Given the description of an element on the screen output the (x, y) to click on. 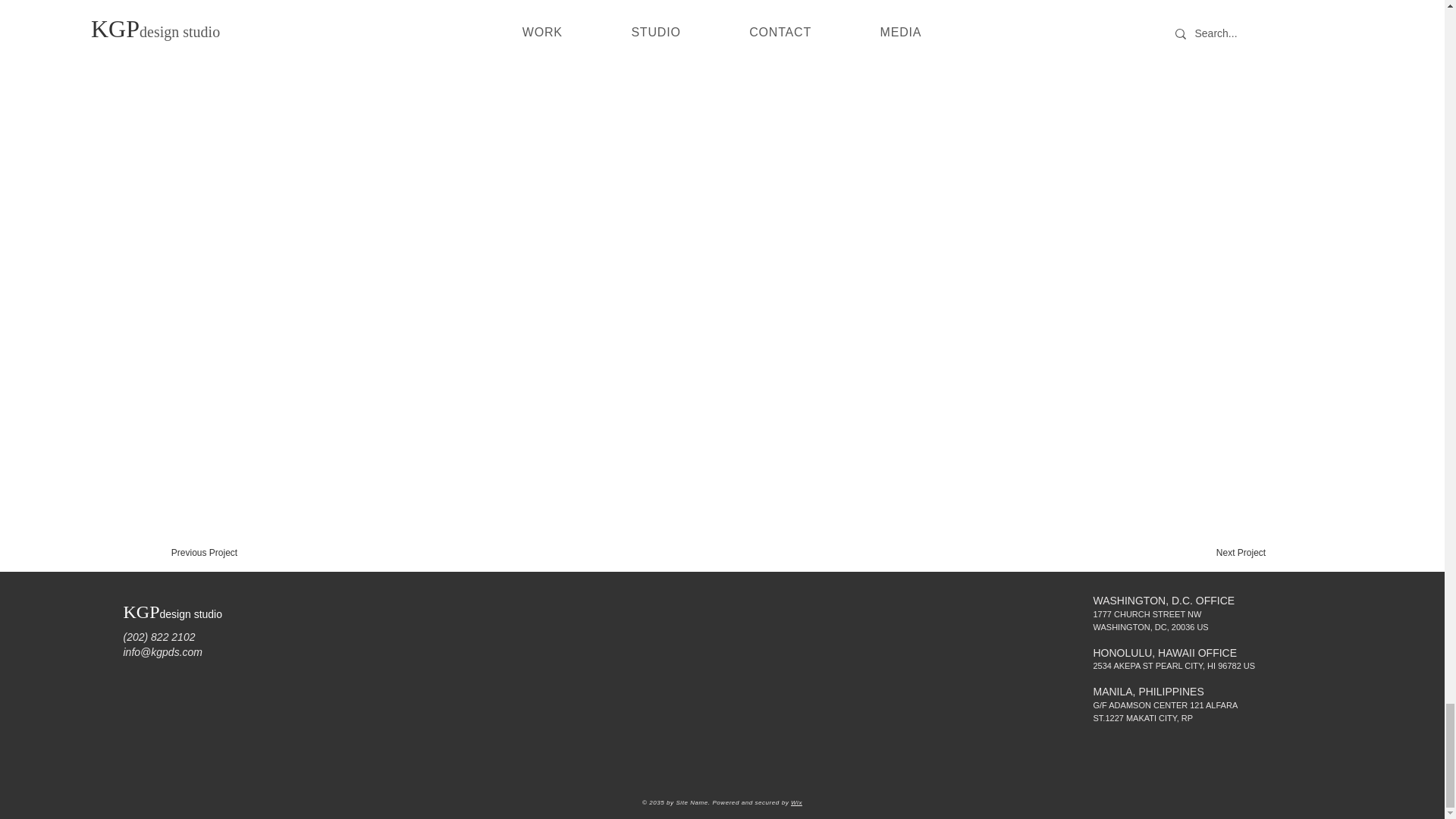
Wix (796, 802)
Previous Project (204, 552)
Next Project (1240, 552)
